Given the description of an element on the screen output the (x, y) to click on. 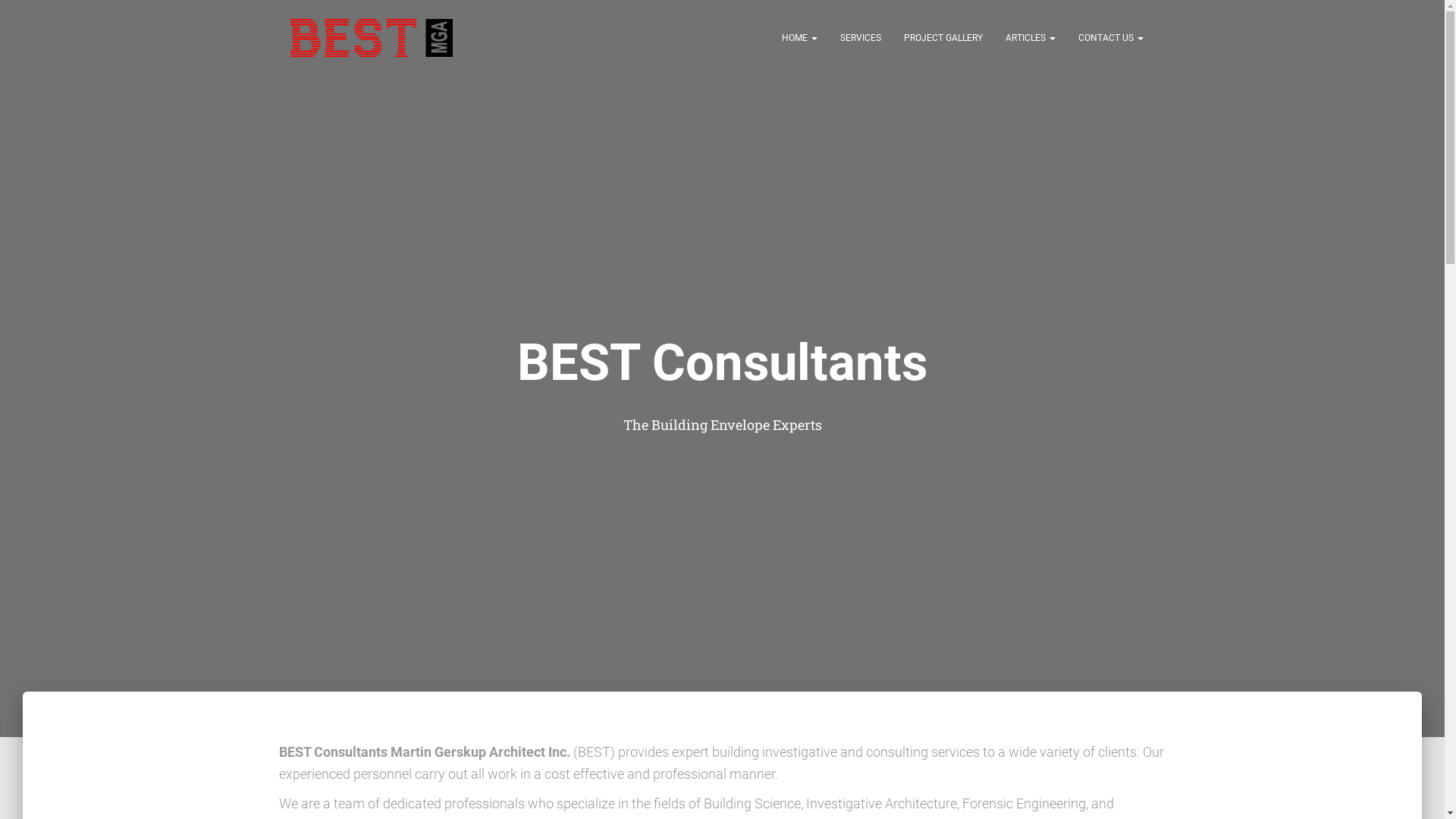
ARTICLES Element type: text (1029, 37)
CONTACT US Element type: text (1110, 37)
PROJECT GALLERY Element type: text (942, 37)
BEST Consultants Martin Gerskup Architect Inc. Element type: hover (371, 37)
SERVICES Element type: text (859, 37)
HOME Element type: text (799, 37)
